Given the description of an element on the screen output the (x, y) to click on. 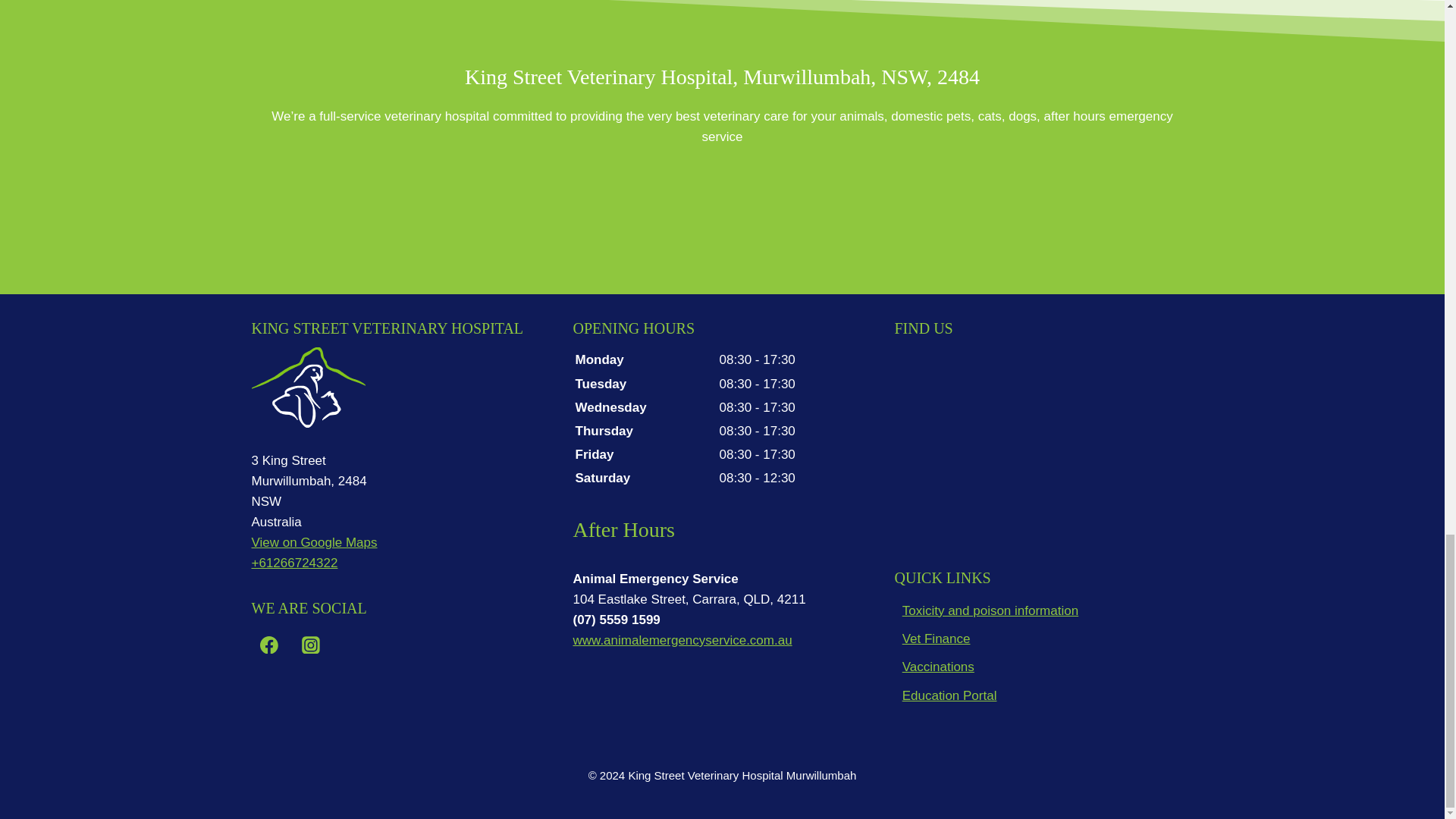
View on Google Maps (314, 542)
